Given the description of an element on the screen output the (x, y) to click on. 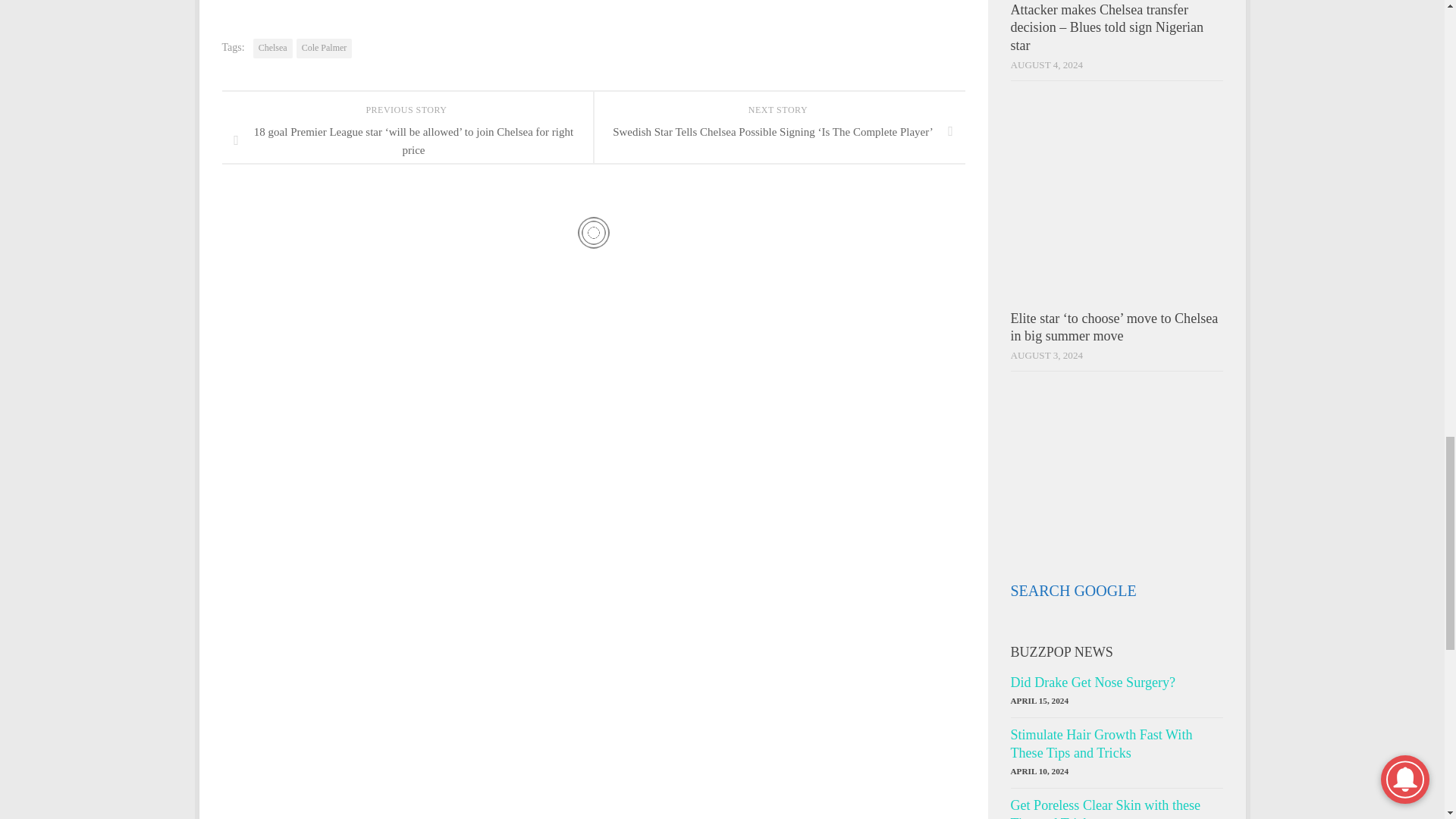
Cole Palmer (324, 48)
Chelsea (272, 48)
